Given the description of an element on the screen output the (x, y) to click on. 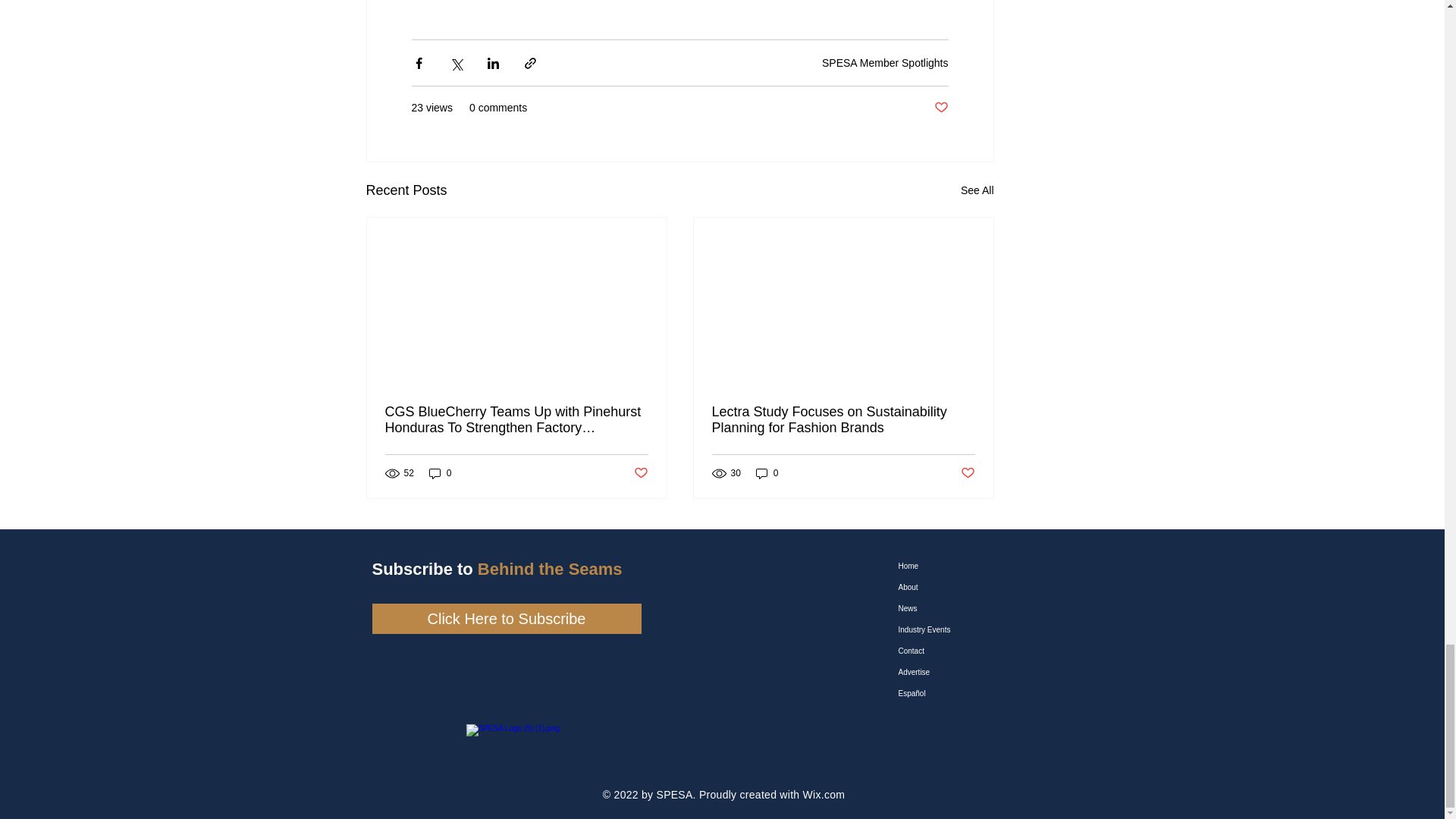
See All (977, 190)
Post not marked as liked (941, 107)
0 (440, 473)
Post not marked as liked (966, 473)
SPESA Member Spotlights (885, 62)
0 (767, 473)
Post not marked as liked (640, 473)
